Given the description of an element on the screen output the (x, y) to click on. 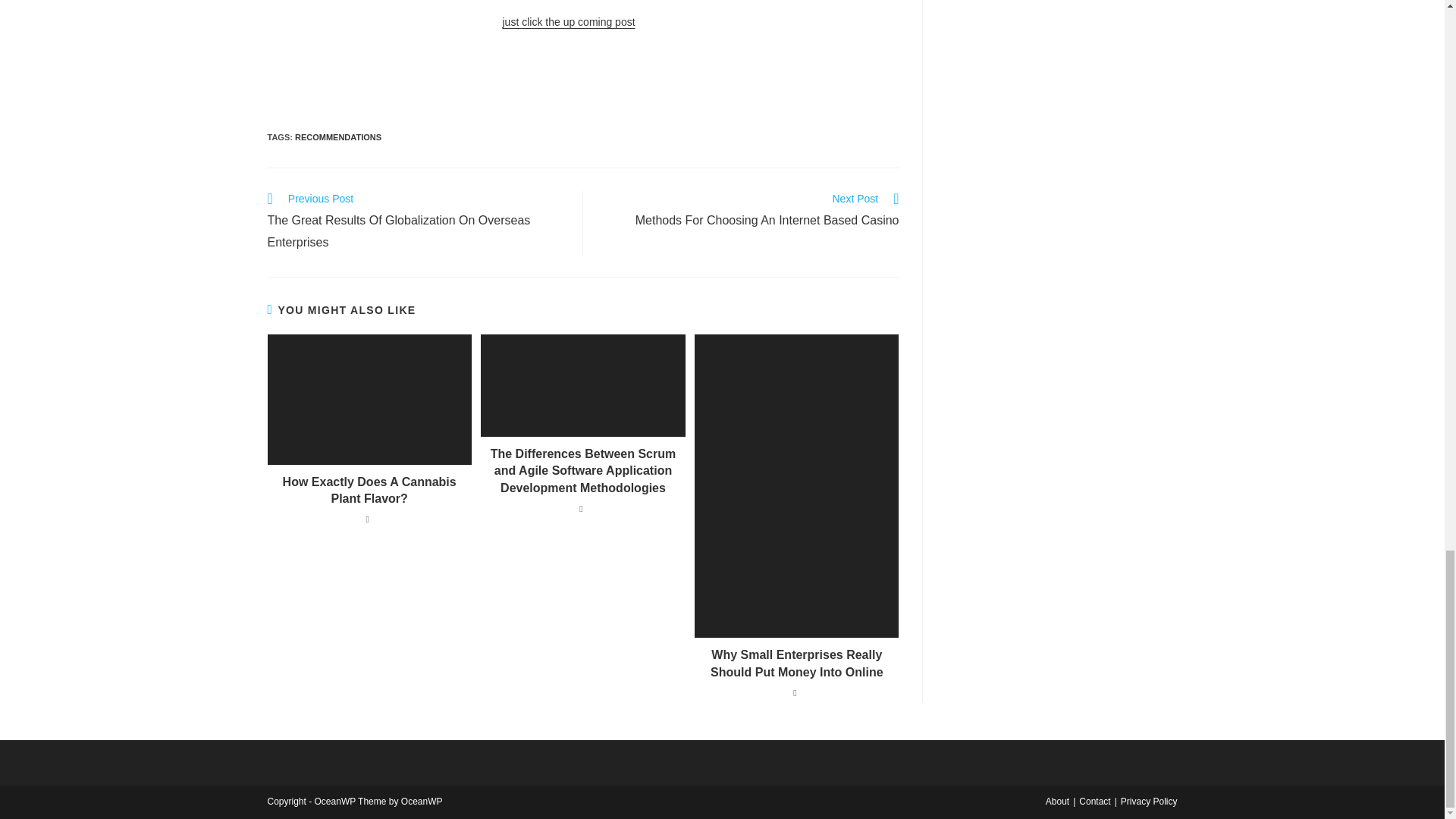
How Exactly Does A Cannabis Plant Flavor? (368, 490)
RECOMMENDATIONS (338, 136)
About (1056, 801)
Privacy Policy (1149, 801)
just click the up coming post (568, 21)
Why Small Enterprises Really Should Put Money Into Online (796, 663)
Contact (1093, 801)
